Given the description of an element on the screen output the (x, y) to click on. 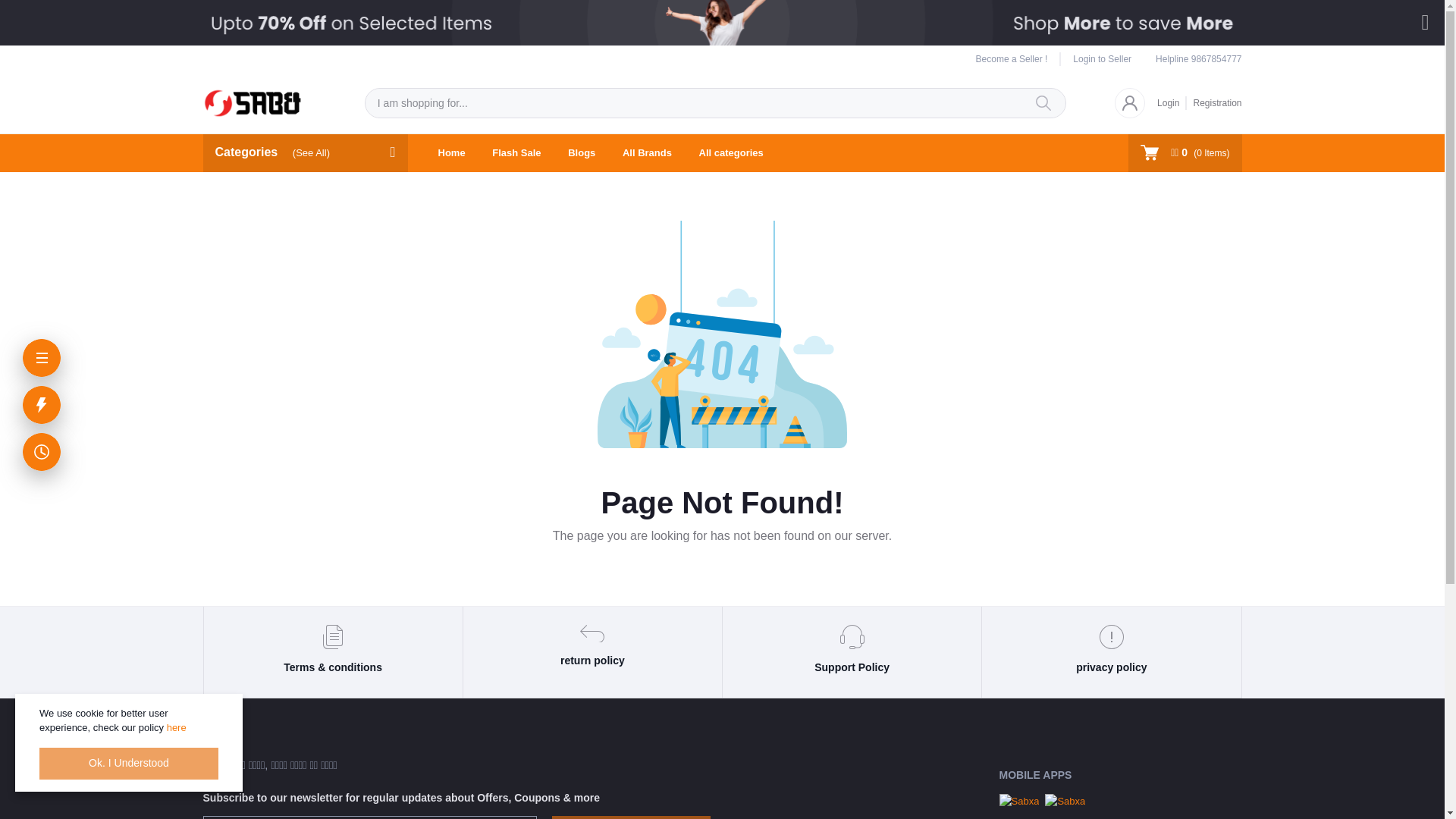
All Brands (647, 152)
All categories (731, 152)
Login to Seller (1096, 59)
Registration (1213, 102)
Flash Sale (516, 152)
Helpline 9867854777 (1198, 58)
Login (1171, 101)
Home (451, 152)
Cart (1184, 152)
Blogs (581, 152)
